Given the description of an element on the screen output the (x, y) to click on. 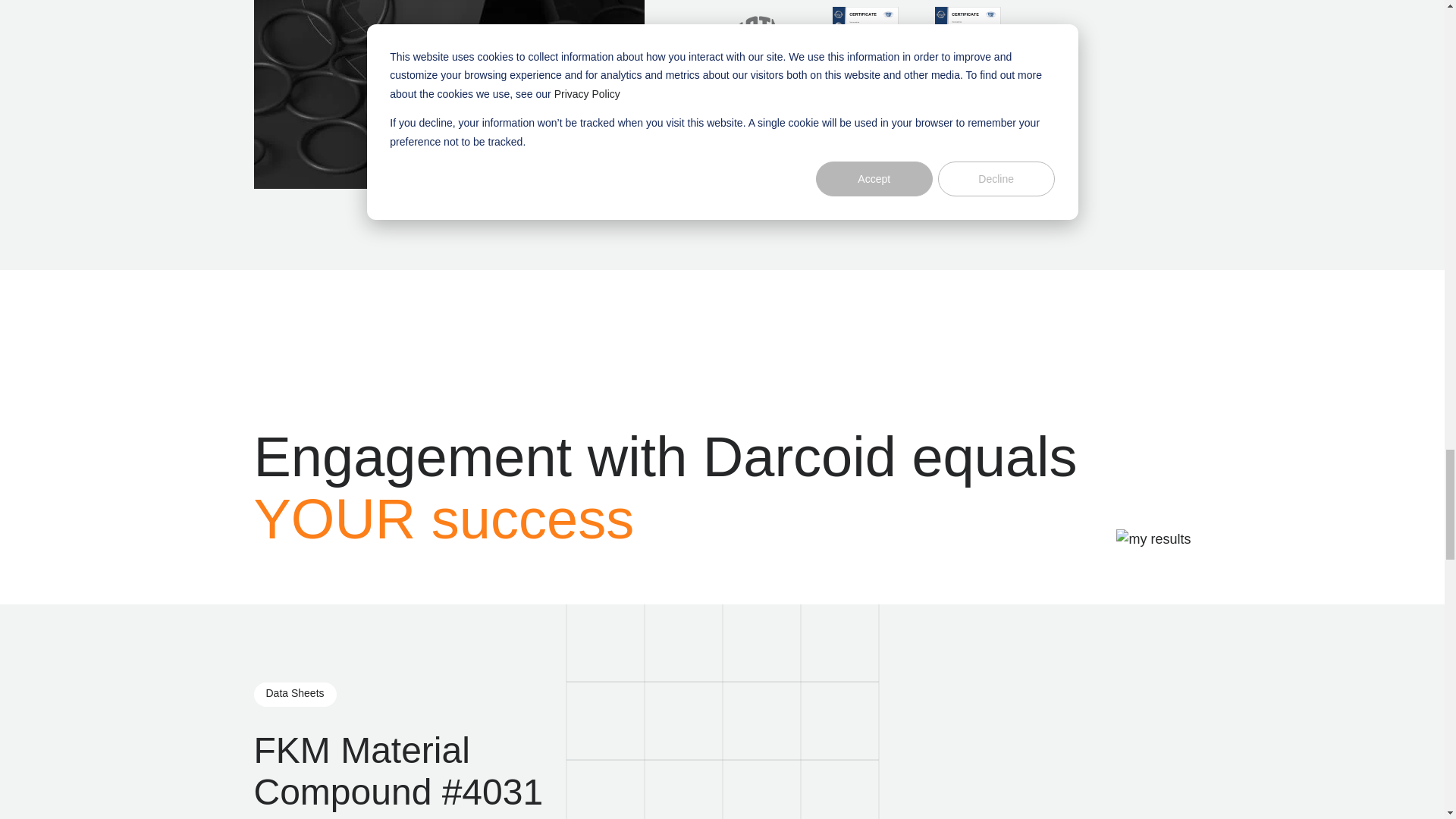
PDF Download  (967, 48)
PDF Download  (865, 48)
